Given the description of an element on the screen output the (x, y) to click on. 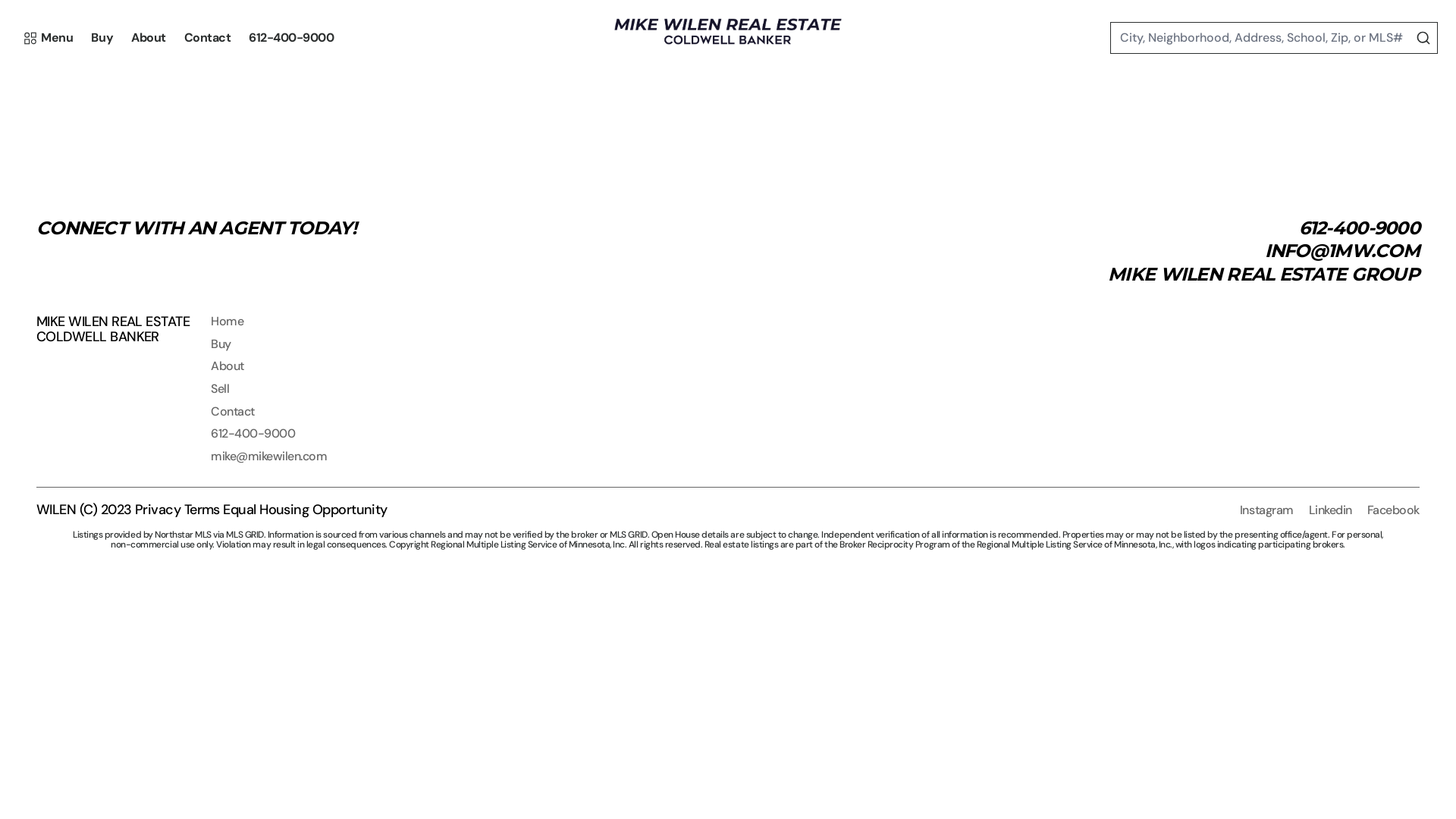
INFO@1MW.COM Element type: text (1341, 250)
Facebook Element type: text (1393, 509)
Linkedin Element type: text (1330, 509)
Menu Element type: text (48, 37)
About Element type: text (227, 365)
612-400-9000 Element type: text (252, 433)
mike@mikewilen.com Element type: text (268, 456)
Sell Element type: text (219, 388)
About Element type: text (148, 37)
612-400-9000 Element type: text (290, 37)
Buy Element type: text (101, 37)
Contact Element type: text (232, 411)
MIKE WILEN REAL ESTATE GROUP Element type: text (1263, 274)
Home Element type: text (226, 321)
Contact Element type: text (207, 37)
612-400-9000 Element type: text (1359, 227)
Buy Element type: text (220, 343)
Instagram Element type: text (1266, 509)
MIKE WILEN REAL ESTATE
COLDWELL BANKER Element type: text (112, 329)
